Given the description of an element on the screen output the (x, y) to click on. 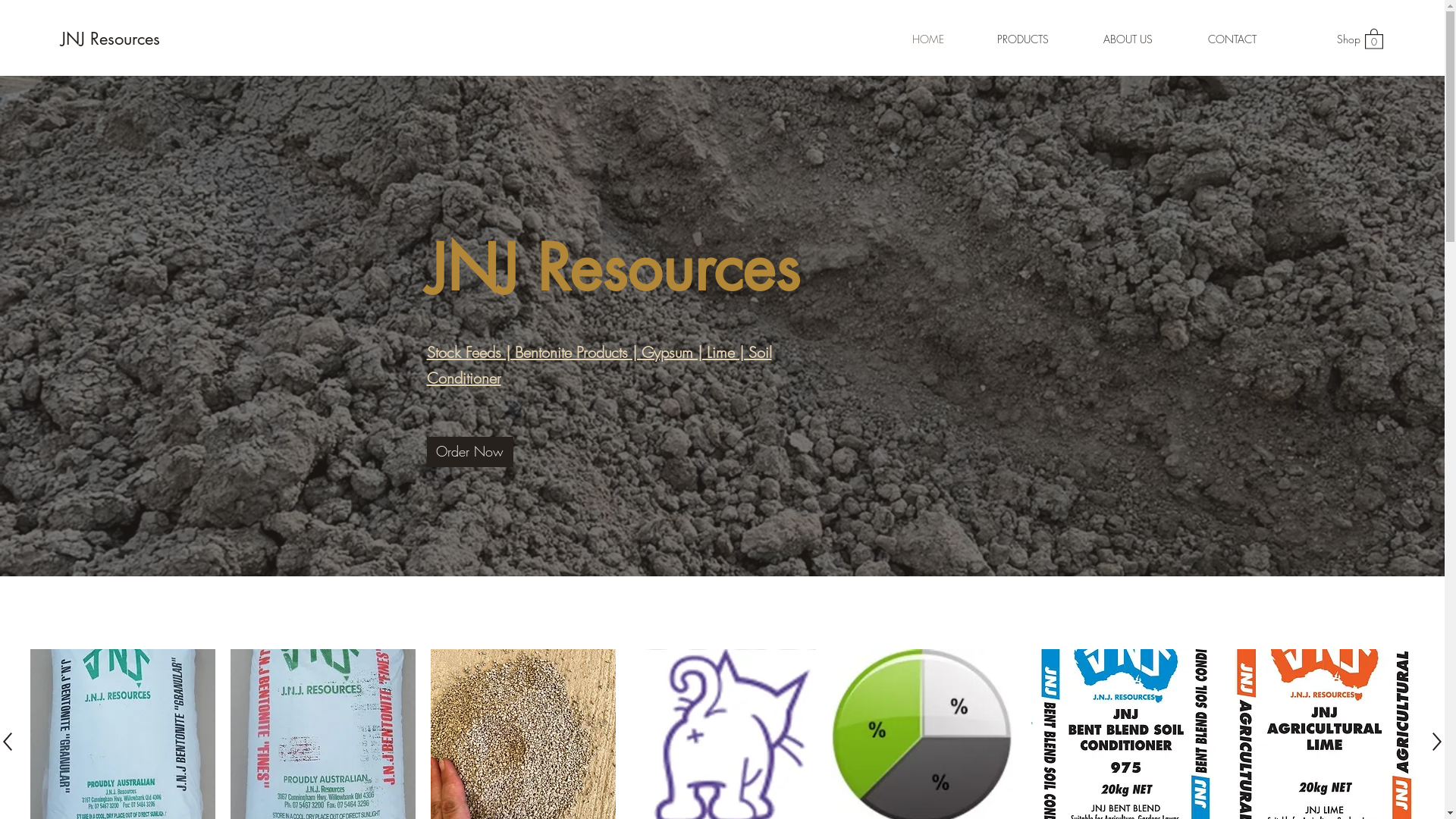
CONTACT Element type: text (1212, 39)
ABOUT US Element type: text (1108, 39)
0 Element type: text (1374, 38)
JNJ Resources Element type: text (110, 38)
Order Now Element type: text (469, 451)
HOME Element type: text (899, 39)
Shop Element type: text (1316, 39)
